Given the description of an element on the screen output the (x, y) to click on. 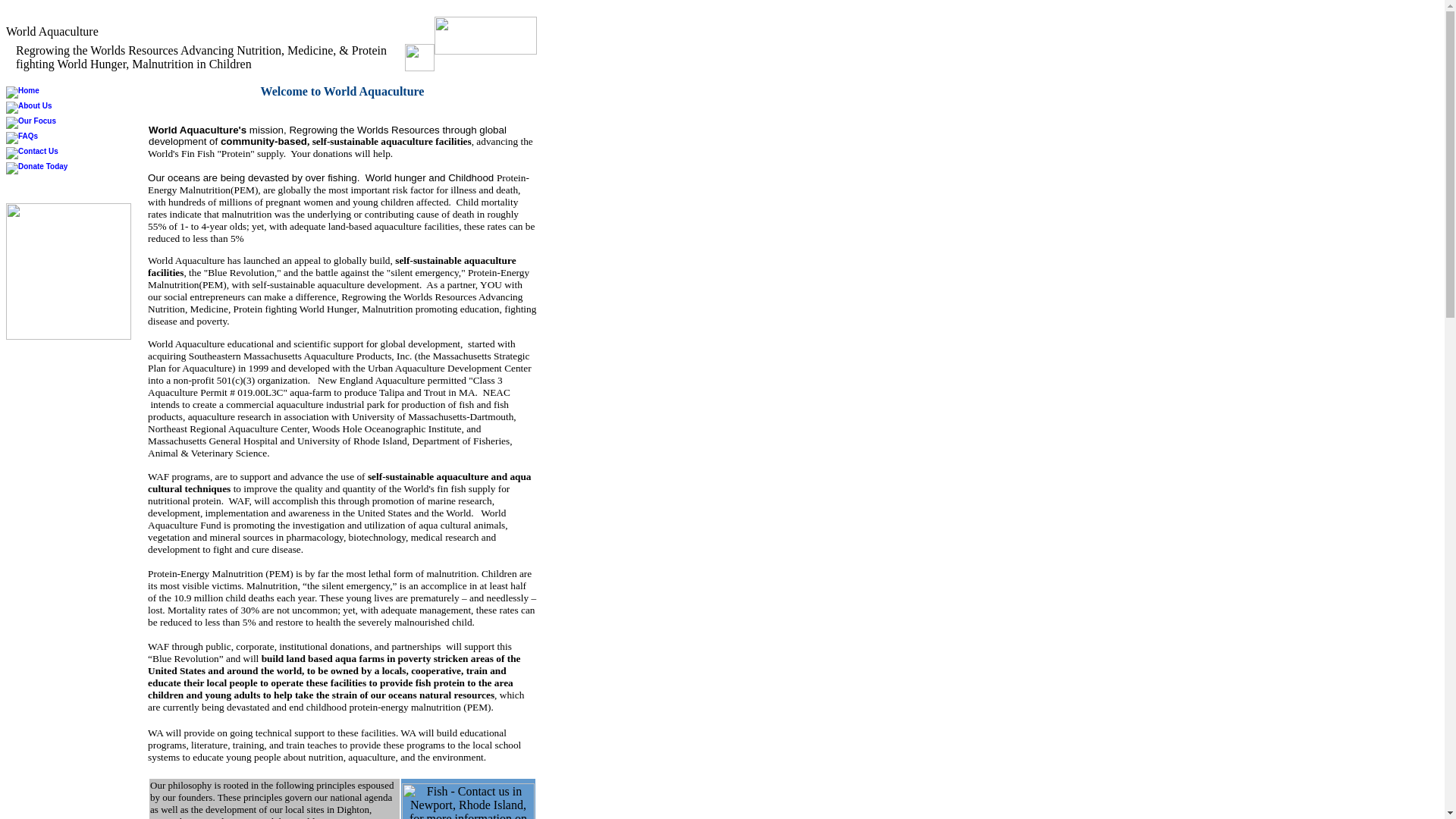
Donate Today (35, 168)
Contact Us (31, 152)
Our Focus (30, 122)
FAQs (21, 137)
Home (22, 92)
About Us (27, 107)
